Given the description of an element on the screen output the (x, y) to click on. 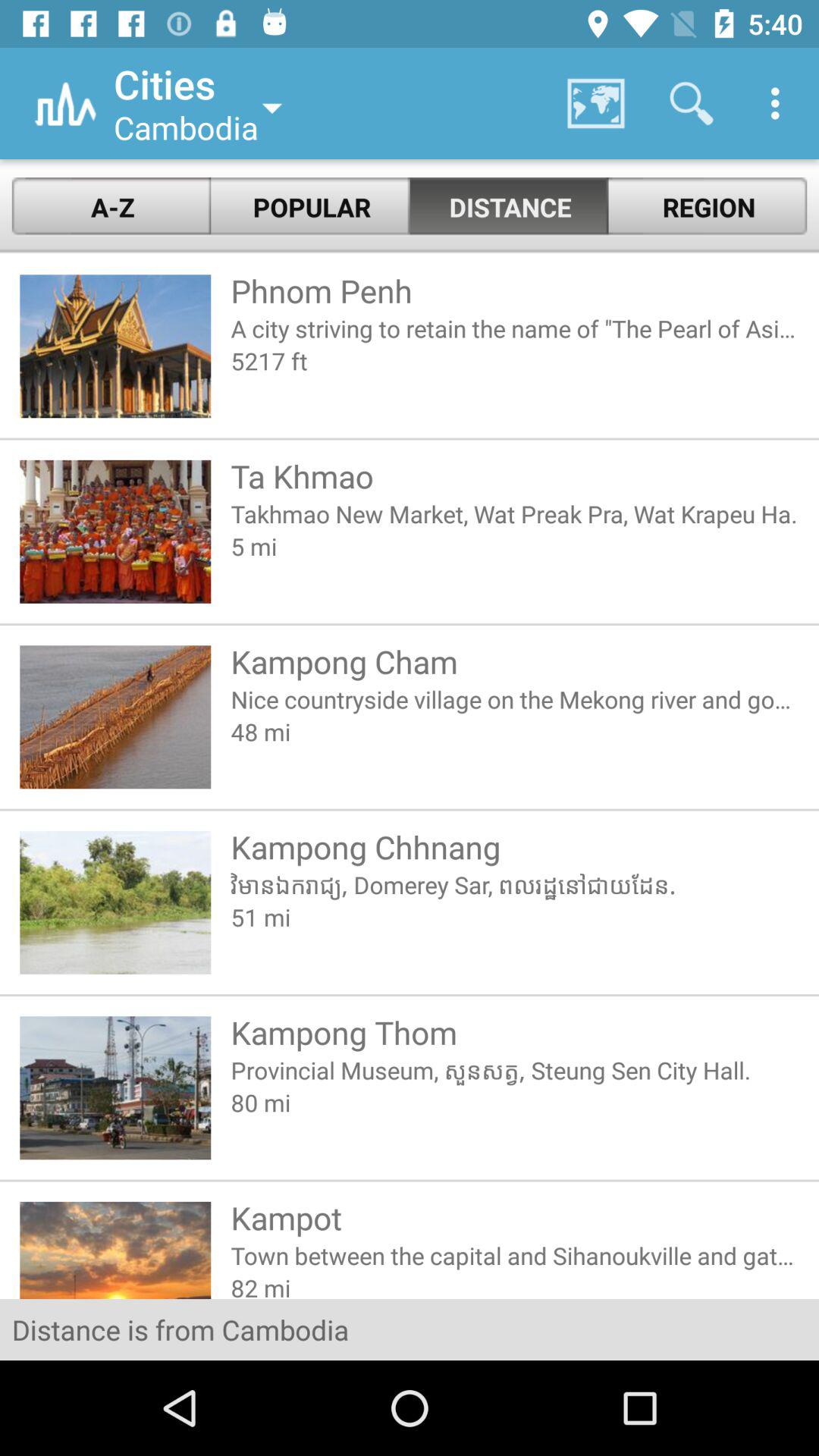
open the icon next to the popular (111, 206)
